Given the description of an element on the screen output the (x, y) to click on. 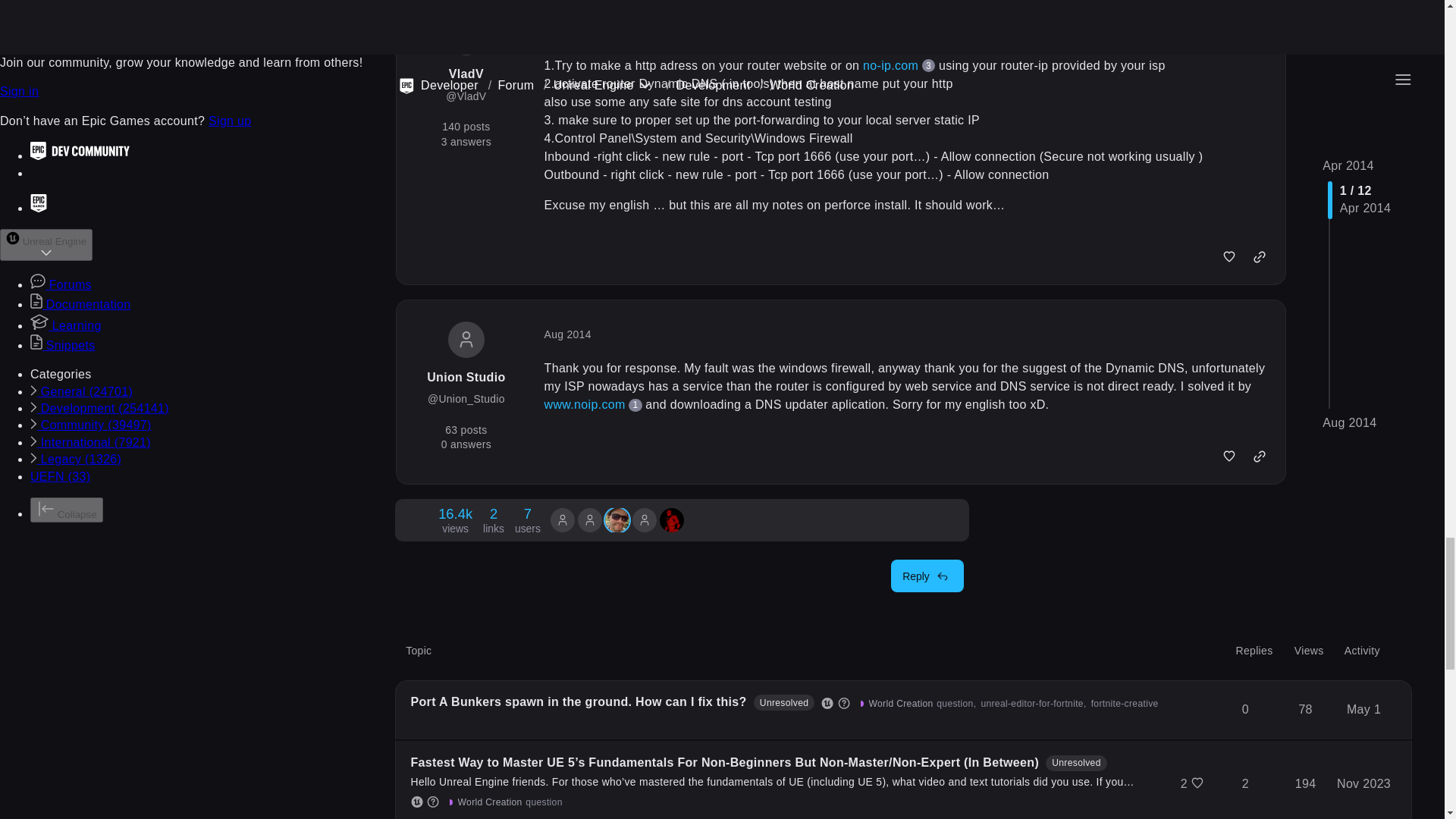
VladV (562, 519)
Union Studio (455, 520)
photex (590, 519)
VenomStyx (527, 520)
VladV (643, 519)
TomSarkanen (671, 519)
photex (562, 519)
VenomStyx (616, 521)
